Given the description of an element on the screen output the (x, y) to click on. 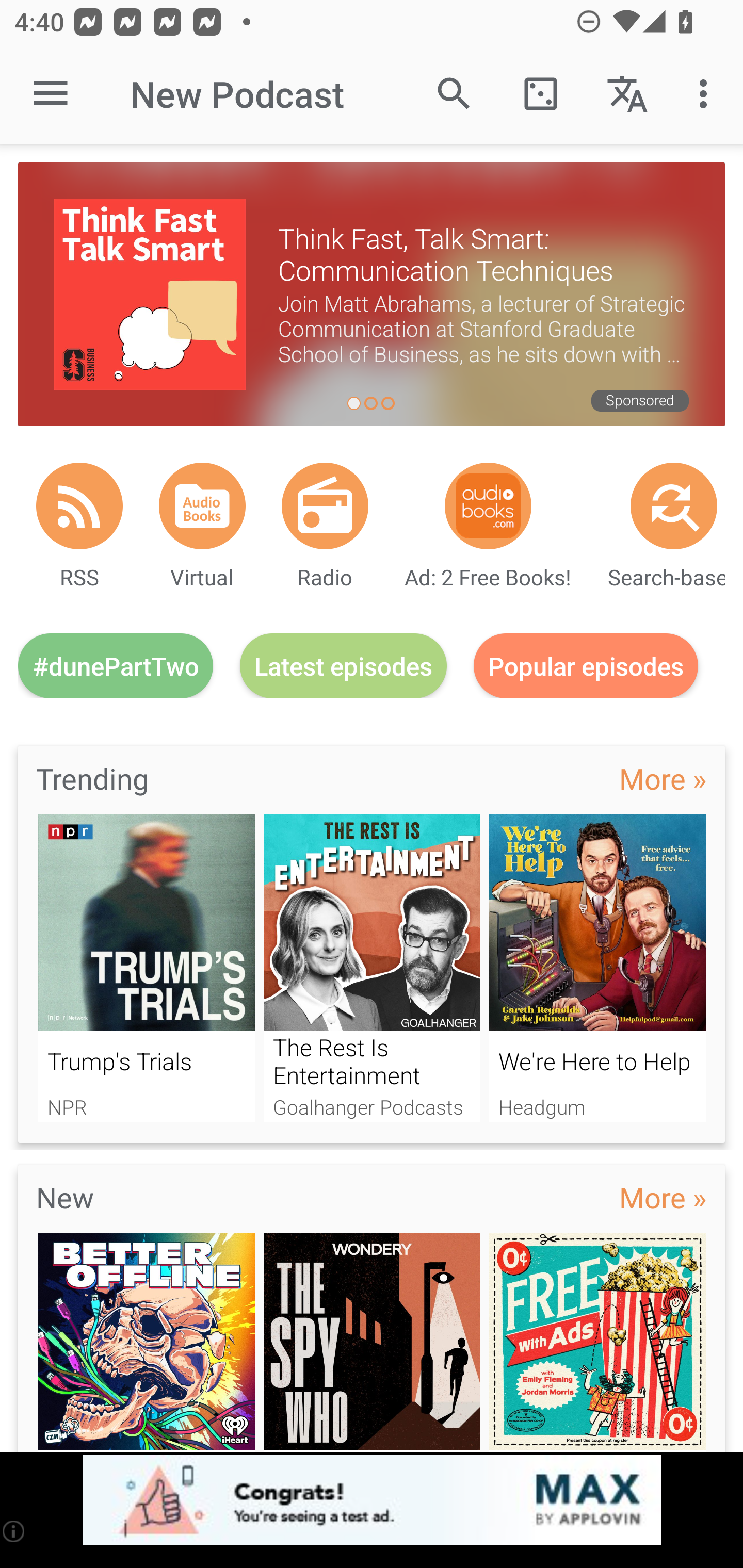
Open navigation sidebar (50, 93)
Search (453, 93)
Random pick (540, 93)
Podcast languages (626, 93)
More options (706, 93)
RSS (79, 505)
Virtual (202, 505)
Radio (324, 505)
Search-based (673, 505)
#dunePartTwo (115, 665)
Latest episodes (342, 665)
Popular episodes (586, 665)
More » (662, 778)
Trump's Trials NPR (145, 967)
The Rest Is Entertainment Goalhanger Podcasts (371, 967)
We're Here to Help Headgum (596, 967)
More » (662, 1196)
Better Offline (145, 1342)
The Spy Who (371, 1342)
Free With Ads (596, 1342)
app-monetization (371, 1500)
(i) (14, 1531)
